Given the description of an element on the screen output the (x, y) to click on. 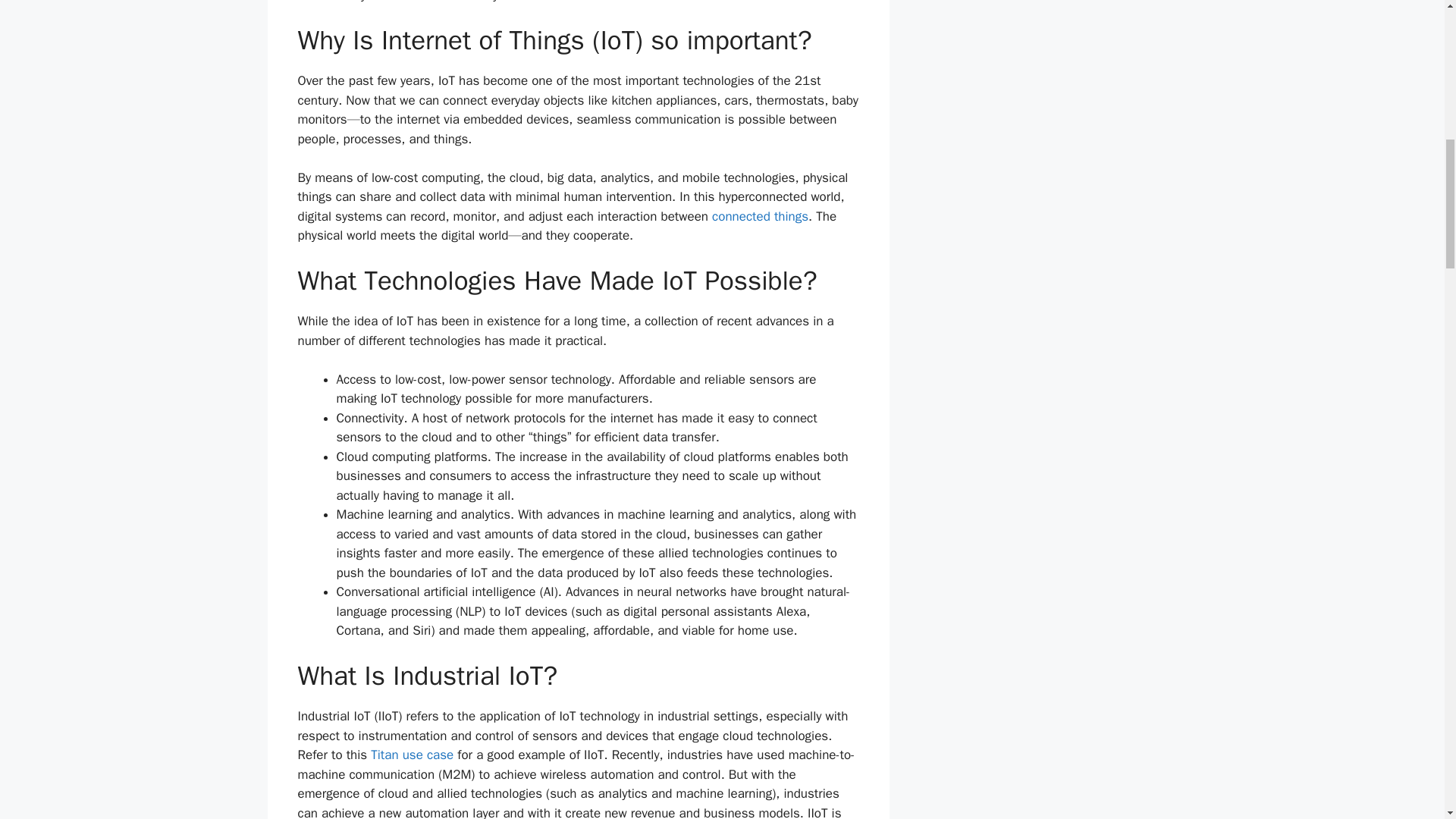
connected things (759, 216)
Scroll back to top (1406, 720)
Titan use case (411, 754)
